Given the description of an element on the screen output the (x, y) to click on. 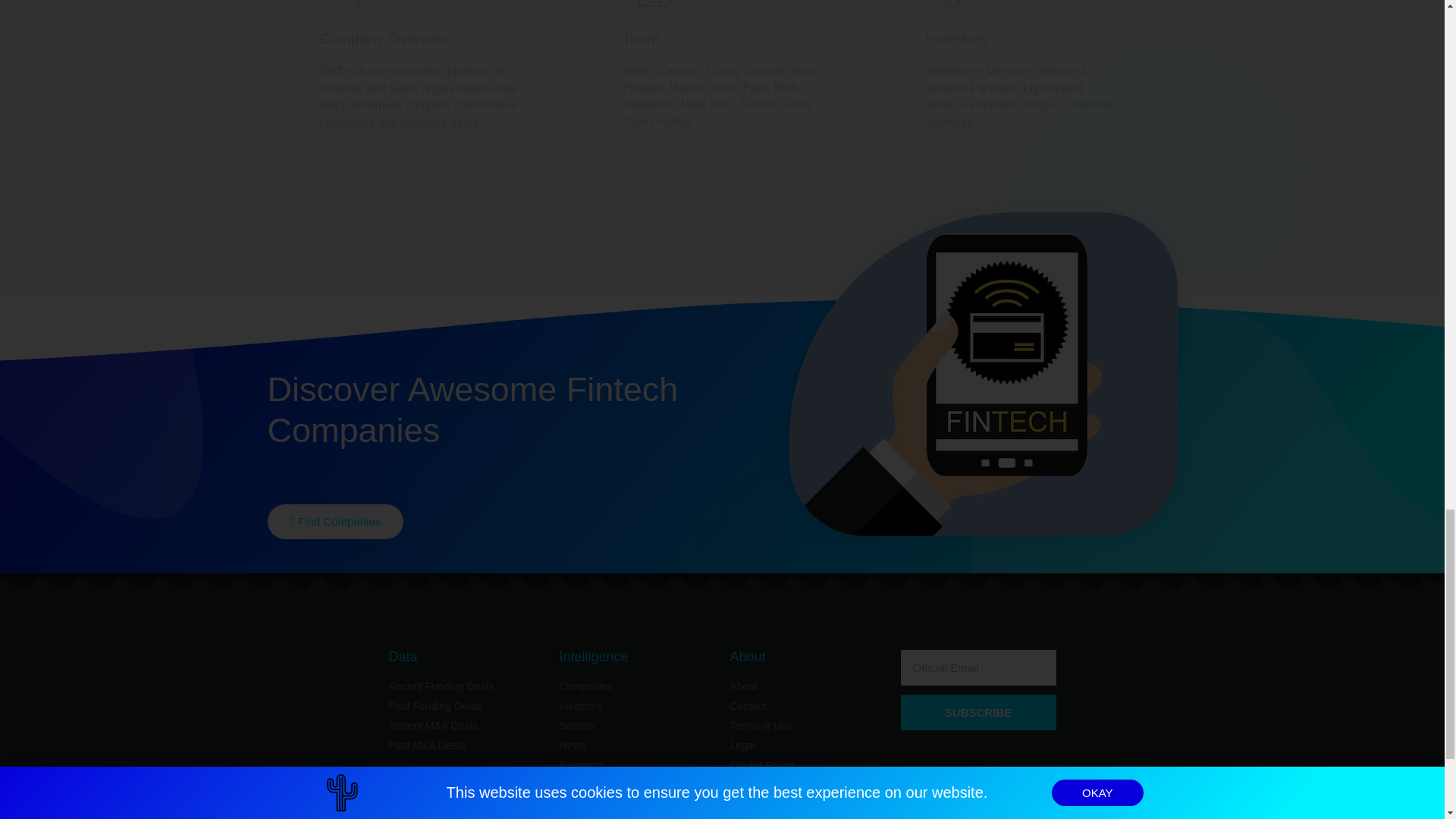
Contact (807, 706)
News (636, 745)
About (807, 686)
Sectors (636, 725)
Privacy Policy (807, 785)
Companies (636, 686)
Find Companies (334, 521)
Terms of Use (807, 725)
Investors (636, 706)
Events (636, 785)
